Given the description of an element on the screen output the (x, y) to click on. 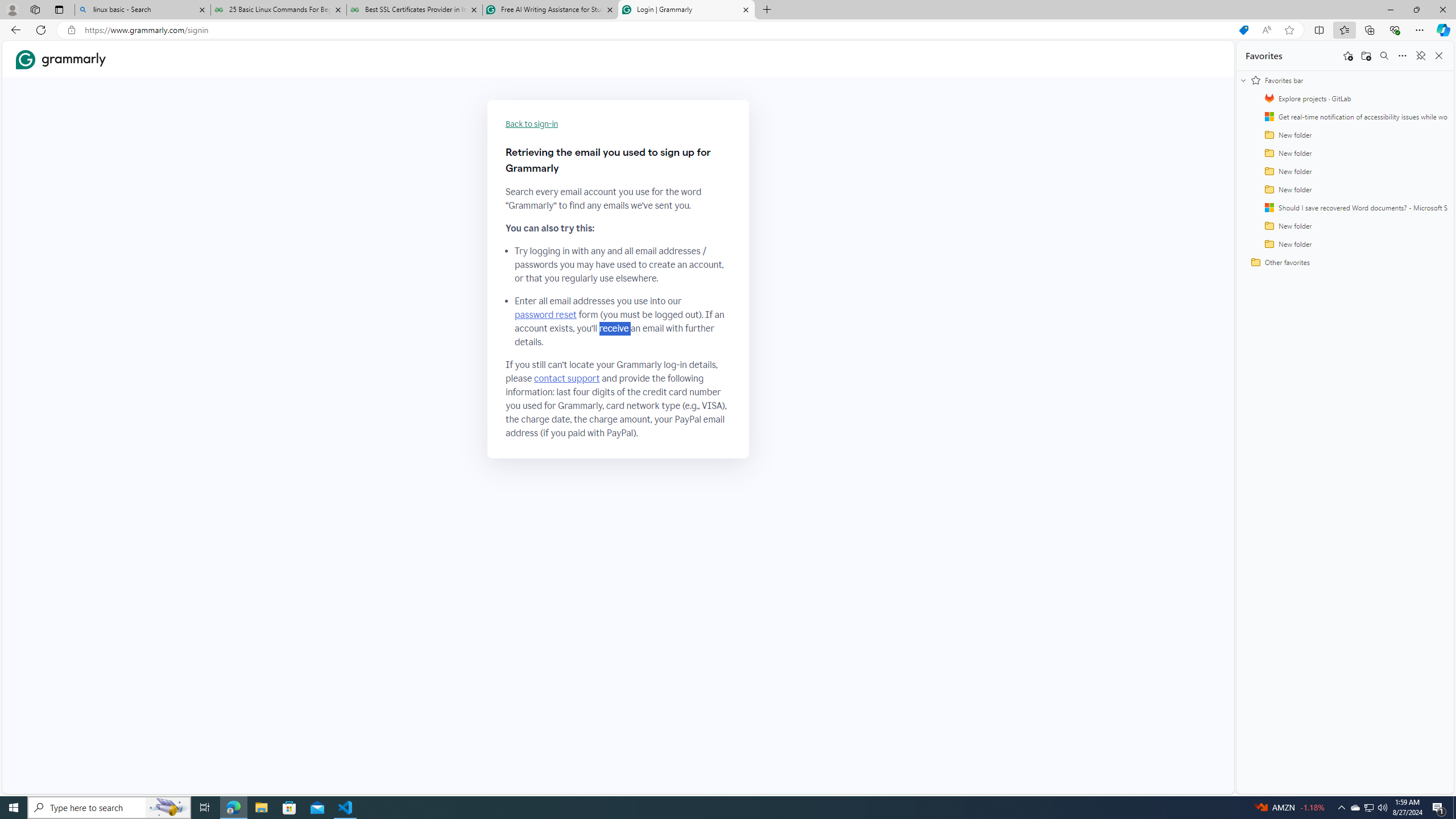
Unpin favorites (1420, 55)
Close favorites (1439, 55)
linux basic - Search (142, 9)
Grammarly Home (61, 58)
Best SSL Certificates Provider in India - GeeksforGeeks (414, 9)
contact support (566, 378)
Search favorites (1383, 55)
